Given the description of an element on the screen output the (x, y) to click on. 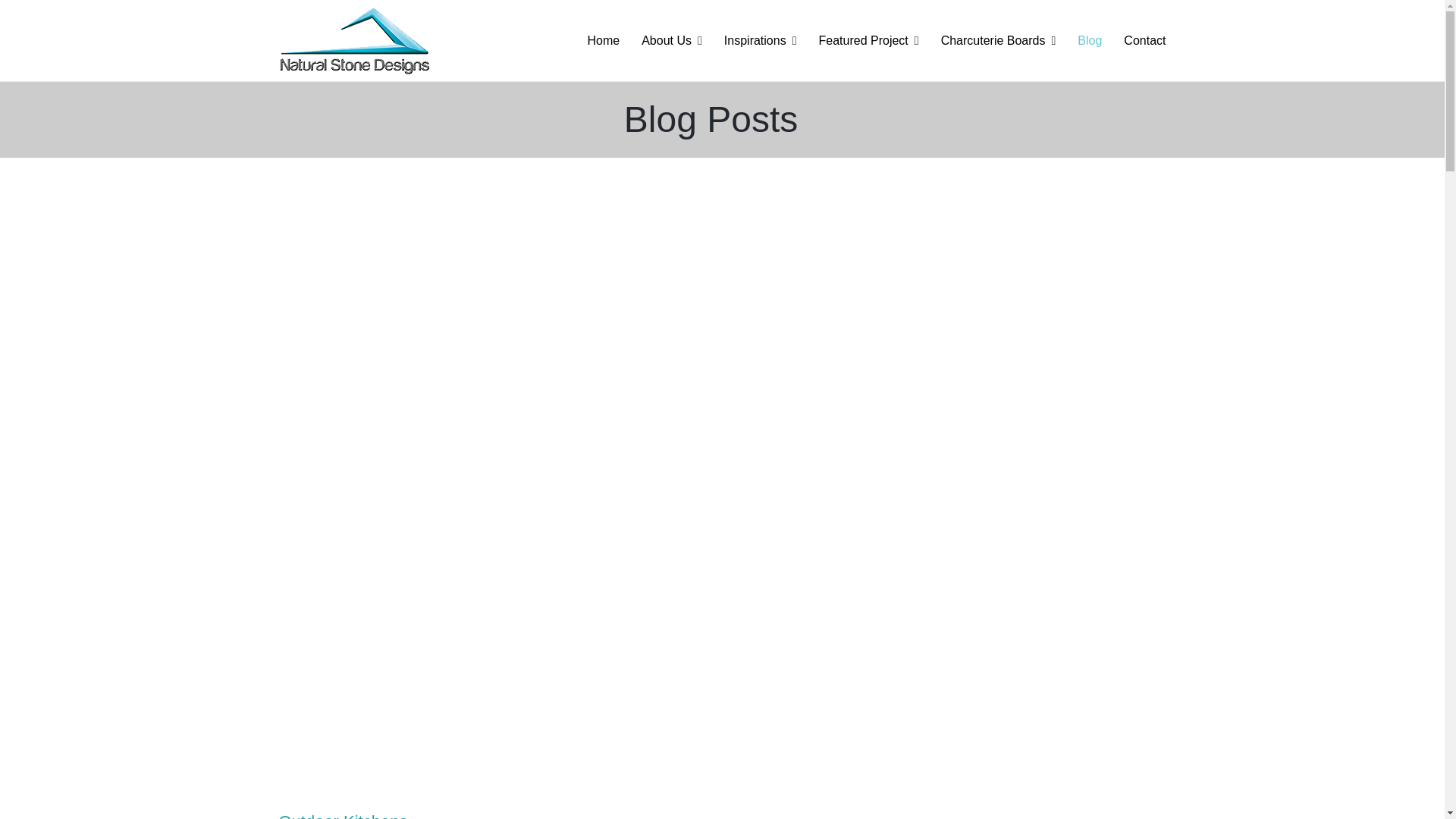
Inspirations (759, 40)
Charcuterie Boards (998, 40)
Outdoor Kitchens (342, 815)
Featured Project (868, 40)
